Given the description of an element on the screen output the (x, y) to click on. 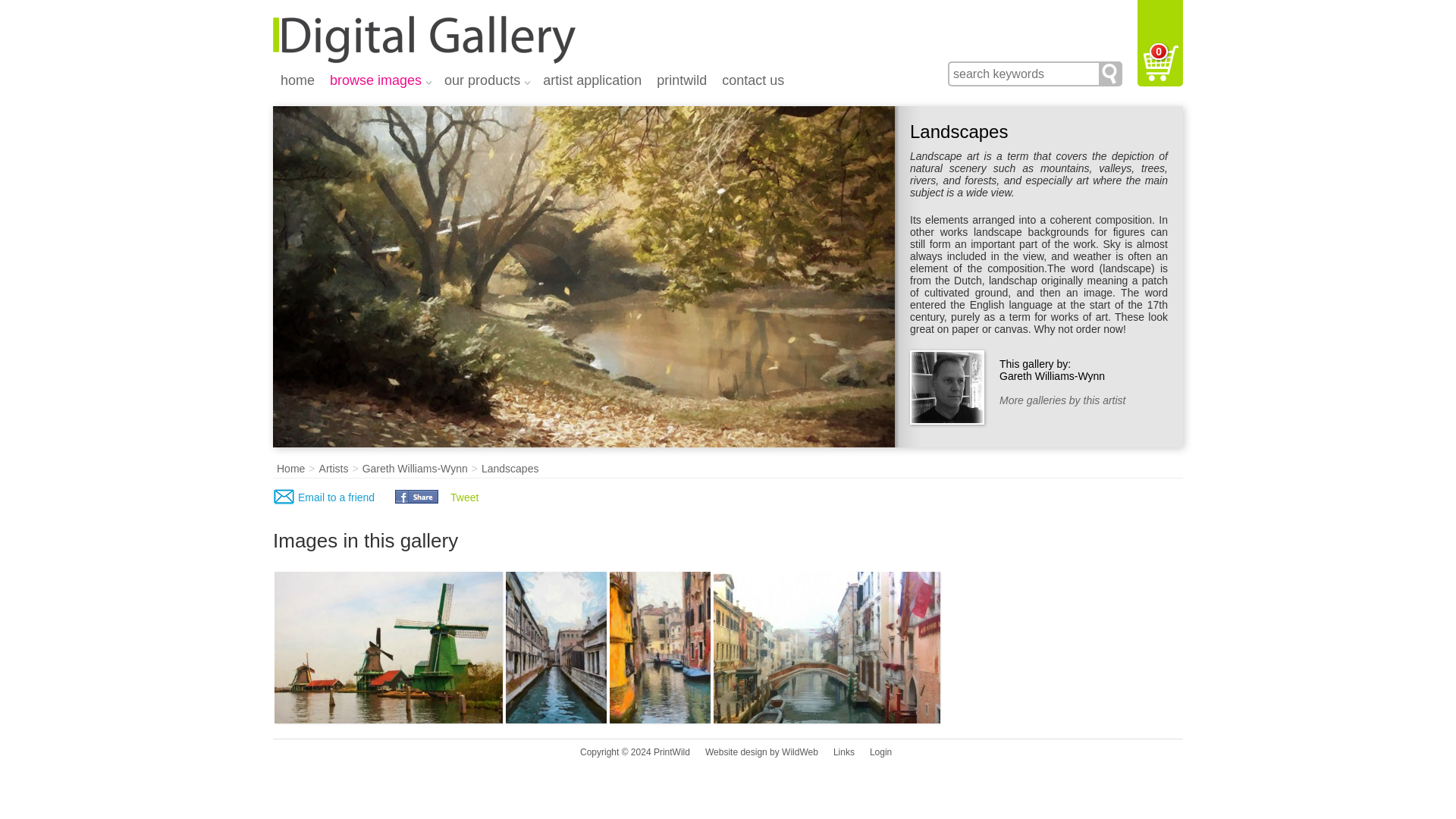
Search (1110, 73)
windmills-001 (388, 647)
Home (290, 468)
artist application (592, 81)
WildWeb (799, 751)
More galleries by this artist (1061, 399)
Links (843, 751)
home (297, 81)
Gareth Williams-Wynn (414, 468)
our products (485, 81)
